Given the description of an element on the screen output the (x, y) to click on. 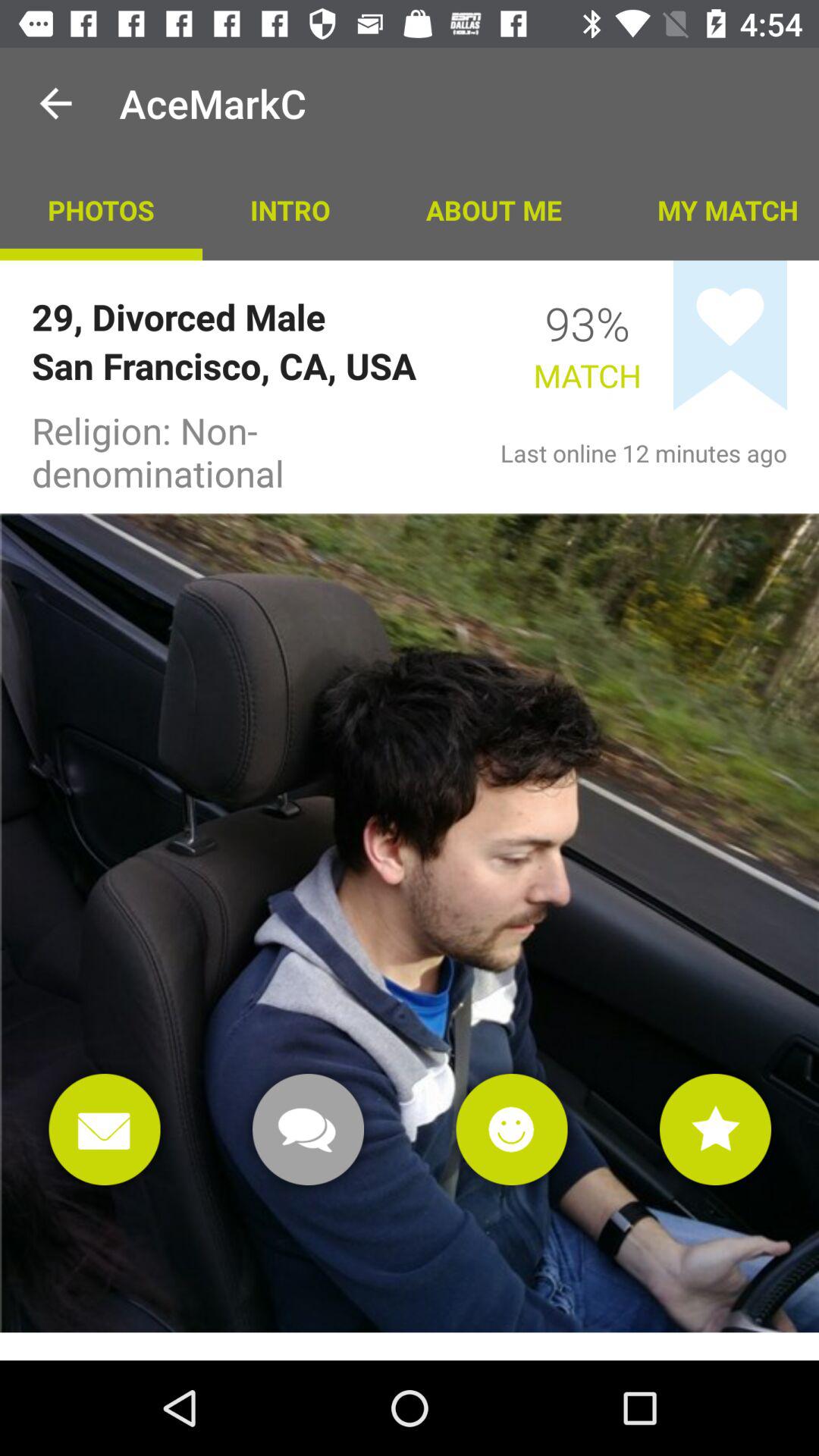
choose happy (511, 1129)
